Given the description of an element on the screen output the (x, y) to click on. 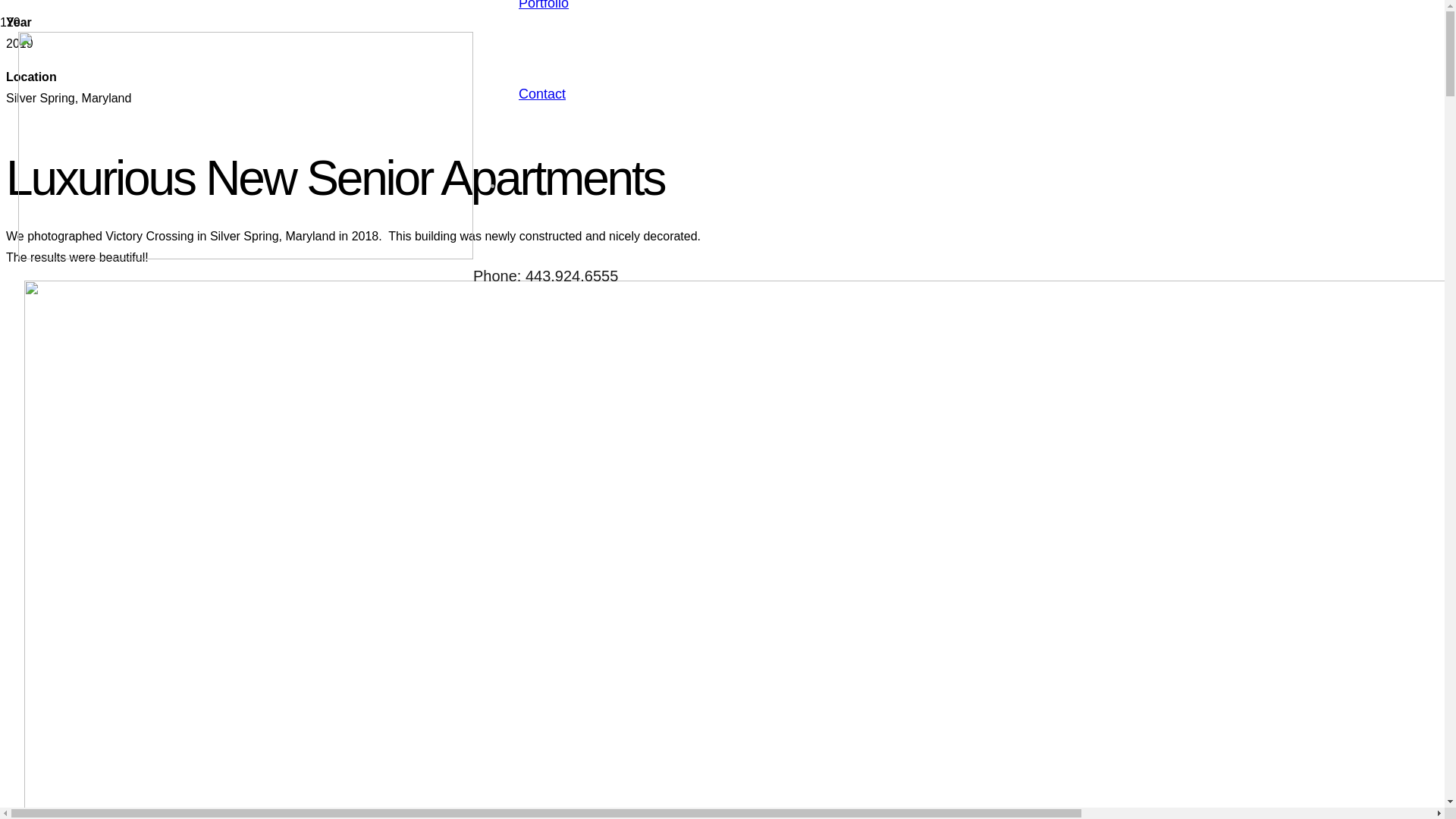
Contact Element type: text (541, 93)
